Given the description of an element on the screen output the (x, y) to click on. 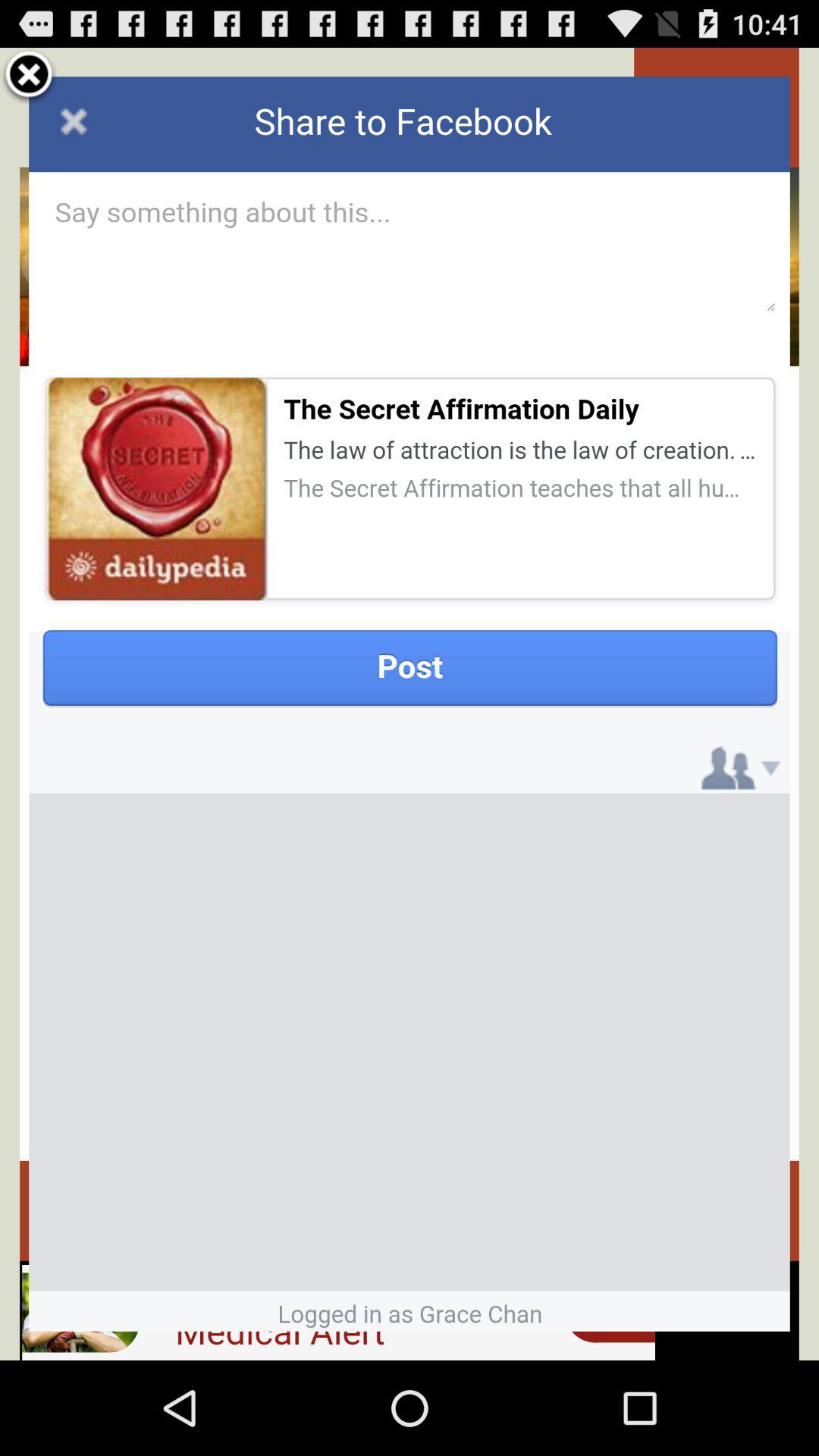
click to cancel (29, 76)
